Given the description of an element on the screen output the (x, y) to click on. 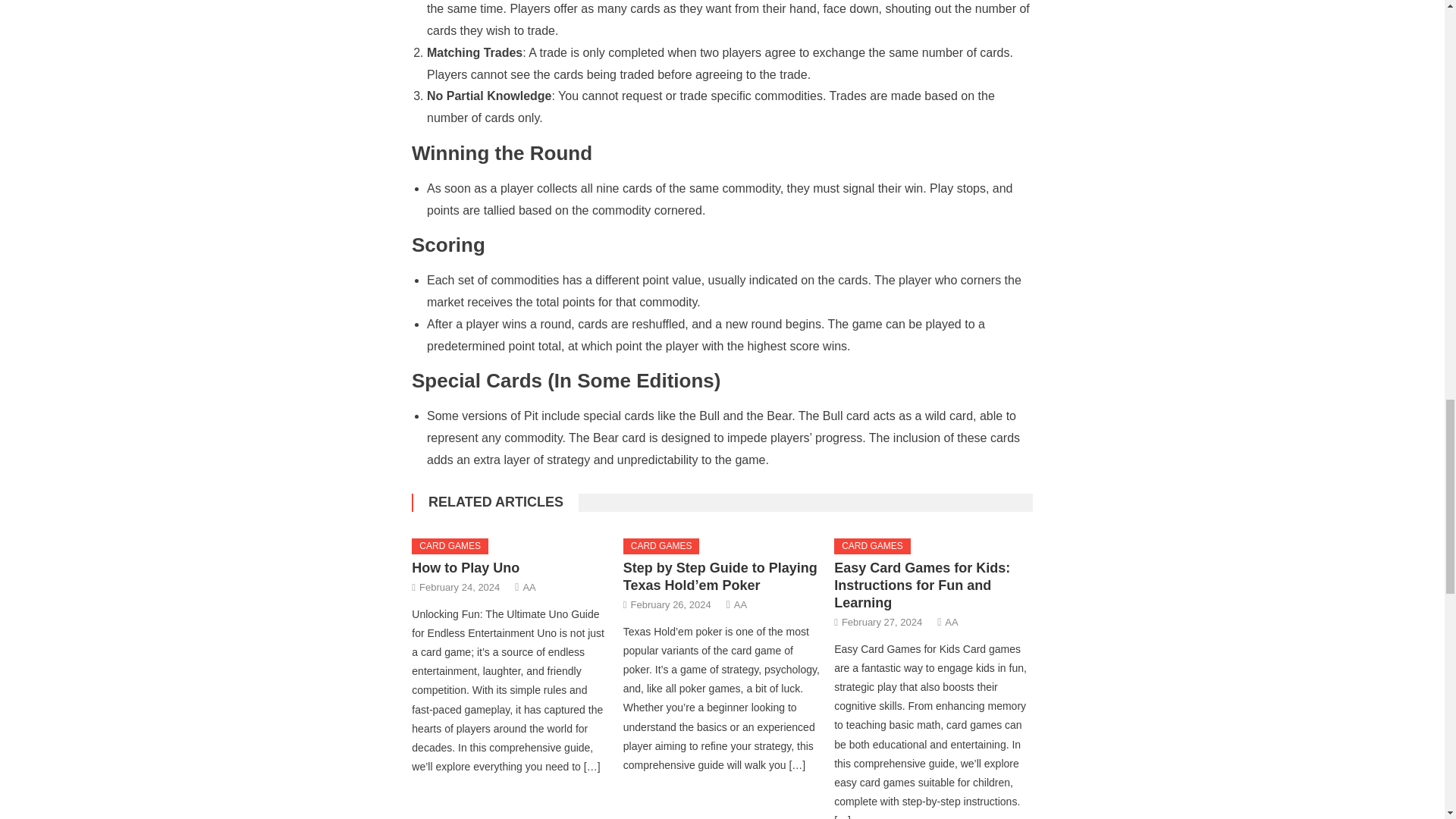
CARD GAMES (449, 546)
February 24, 2024 (459, 587)
February 27, 2024 (881, 621)
February 26, 2024 (670, 604)
Easy Card Games for Kids: Instructions for Fun and Learning (922, 585)
CARD GAMES (872, 546)
CARD GAMES (661, 546)
How to Play Uno (465, 567)
